Given the description of an element on the screen output the (x, y) to click on. 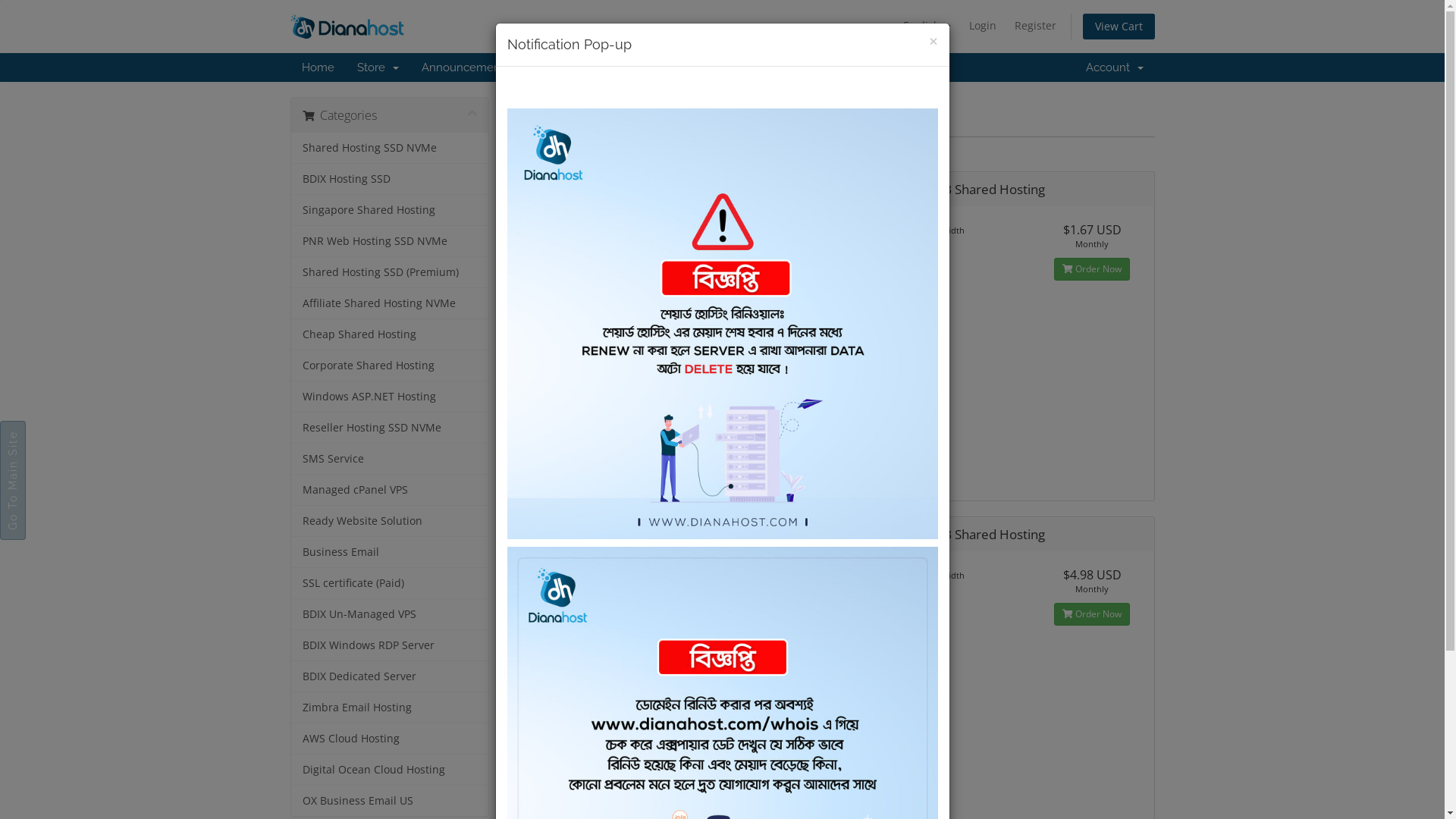
Store   Element type: text (377, 67)
BDIX Dedicated Server Element type: text (390, 676)
Cheap Shared Hosting Element type: text (390, 334)
View Cart Element type: text (1118, 26)
Digital Ocean Cloud Hosting Element type: text (390, 769)
Order Now Element type: text (759, 613)
Affiliates Element type: text (765, 67)
Singapore Shared Hosting Element type: text (390, 209)
Order Now Element type: text (1091, 268)
Zimbra Email Hosting Element type: text (390, 707)
BDIX Hosting SSD Element type: text (390, 178)
Business Email Element type: text (390, 551)
Corporate Shared Hosting Element type: text (390, 365)
AWS Cloud Hosting Element type: text (390, 738)
Go To Main Site Element type: text (59, 433)
Login Element type: text (982, 25)
Shared Hosting SSD (Premium) Element type: text (390, 272)
SMS Service Element type: text (390, 458)
Managed cPanel VPS Element type: text (390, 489)
Order Now Element type: text (1091, 613)
Order Now Element type: text (759, 268)
Knowledgebase Element type: text (574, 67)
Shared Hosting SSD NVMe Element type: text (390, 147)
Affiliate Shared Hosting NVMe Element type: text (390, 303)
SSL certificate (Paid) Element type: text (390, 583)
BDIX Windows RDP Server Element type: text (390, 645)
Reseller Hosting SSD NVMe Element type: text (390, 427)
Register Element type: text (1035, 25)
Network Status Element type: text (681, 67)
English Element type: text (925, 25)
Windows ASP.NET Hosting Element type: text (390, 396)
Contact Us Element type: text (839, 67)
Account   Element type: text (1113, 67)
OX Business Email US Element type: text (390, 800)
Ready Website Solution Element type: text (390, 520)
Home Element type: text (317, 67)
Announcements Element type: text (464, 67)
PNR Web Hosting SSD NVMe Element type: text (390, 241)
BDIX Un-Managed VPS Element type: text (390, 614)
